Given the description of an element on the screen output the (x, y) to click on. 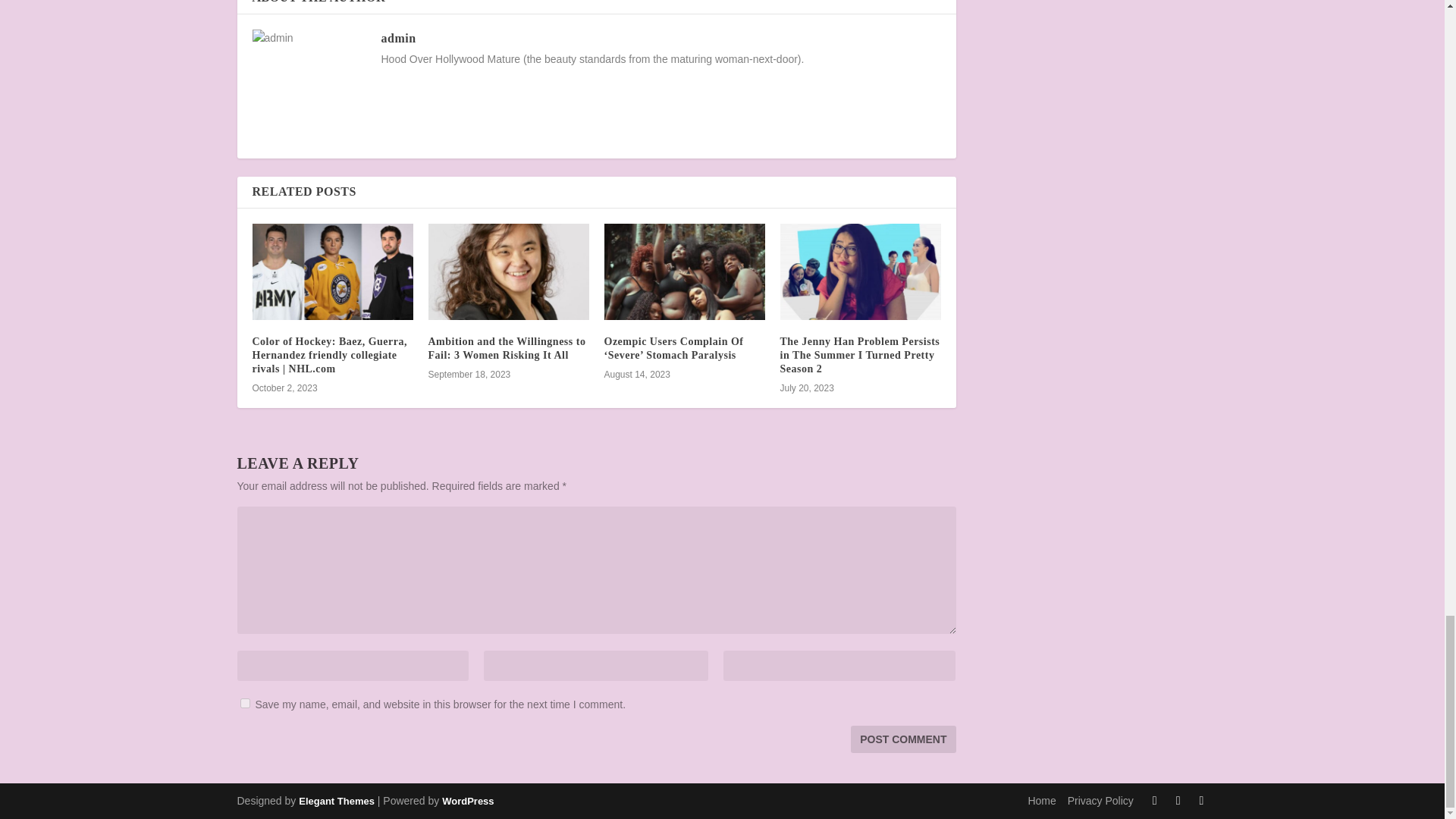
Post Comment (902, 738)
Ambition and the Willingness to Fail: 3 Women Risking It All (506, 348)
yes (244, 703)
admin (397, 38)
